Given the description of an element on the screen output the (x, y) to click on. 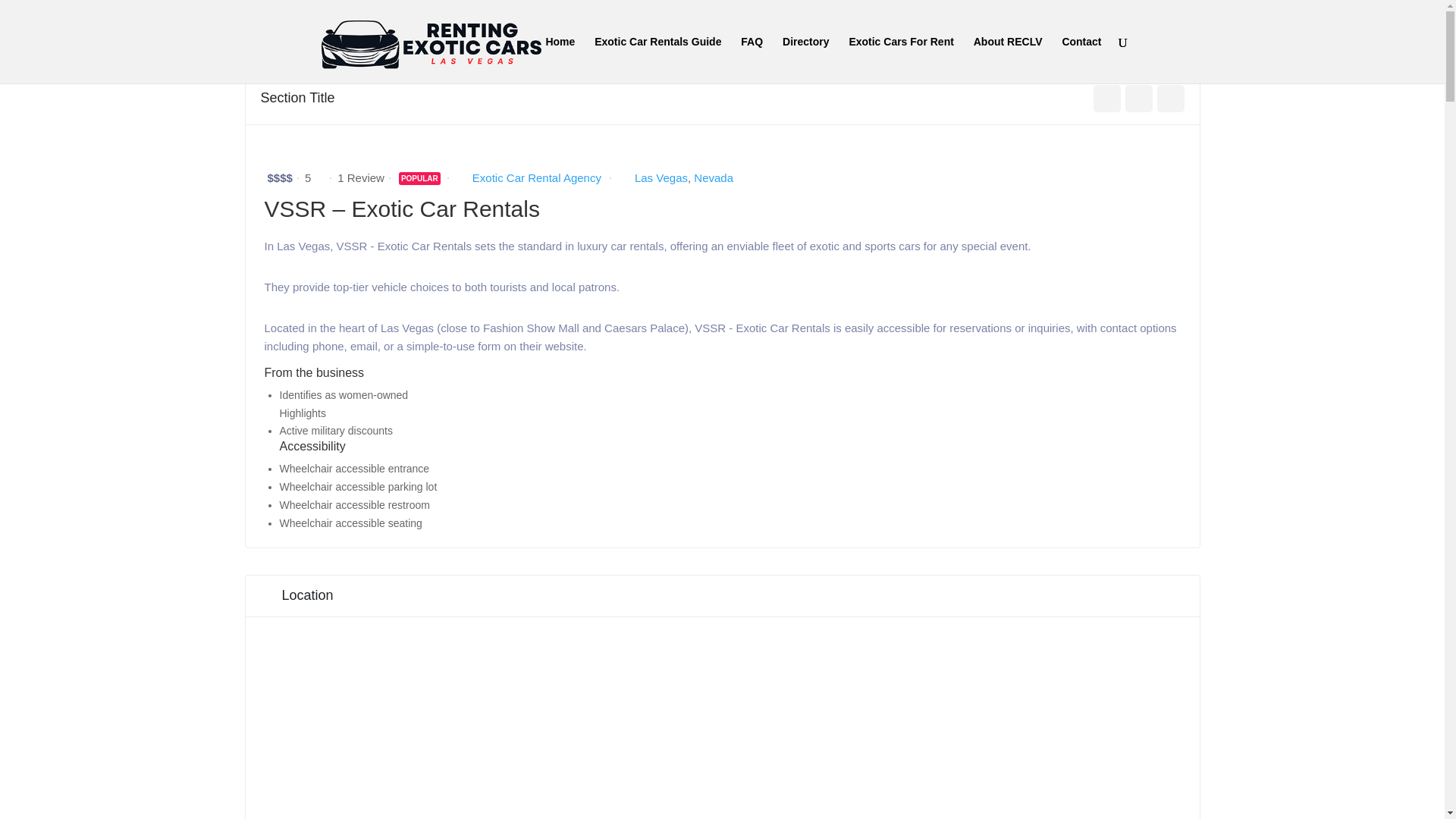
Exotic Cars For Rent (900, 59)
About RECLV (1008, 59)
Directory (805, 59)
Nevada (713, 177)
Las Vegas (660, 177)
Exotic Car Rentals Guide (657, 59)
Exotic Car Rental Agency (536, 177)
